Given the description of an element on the screen output the (x, y) to click on. 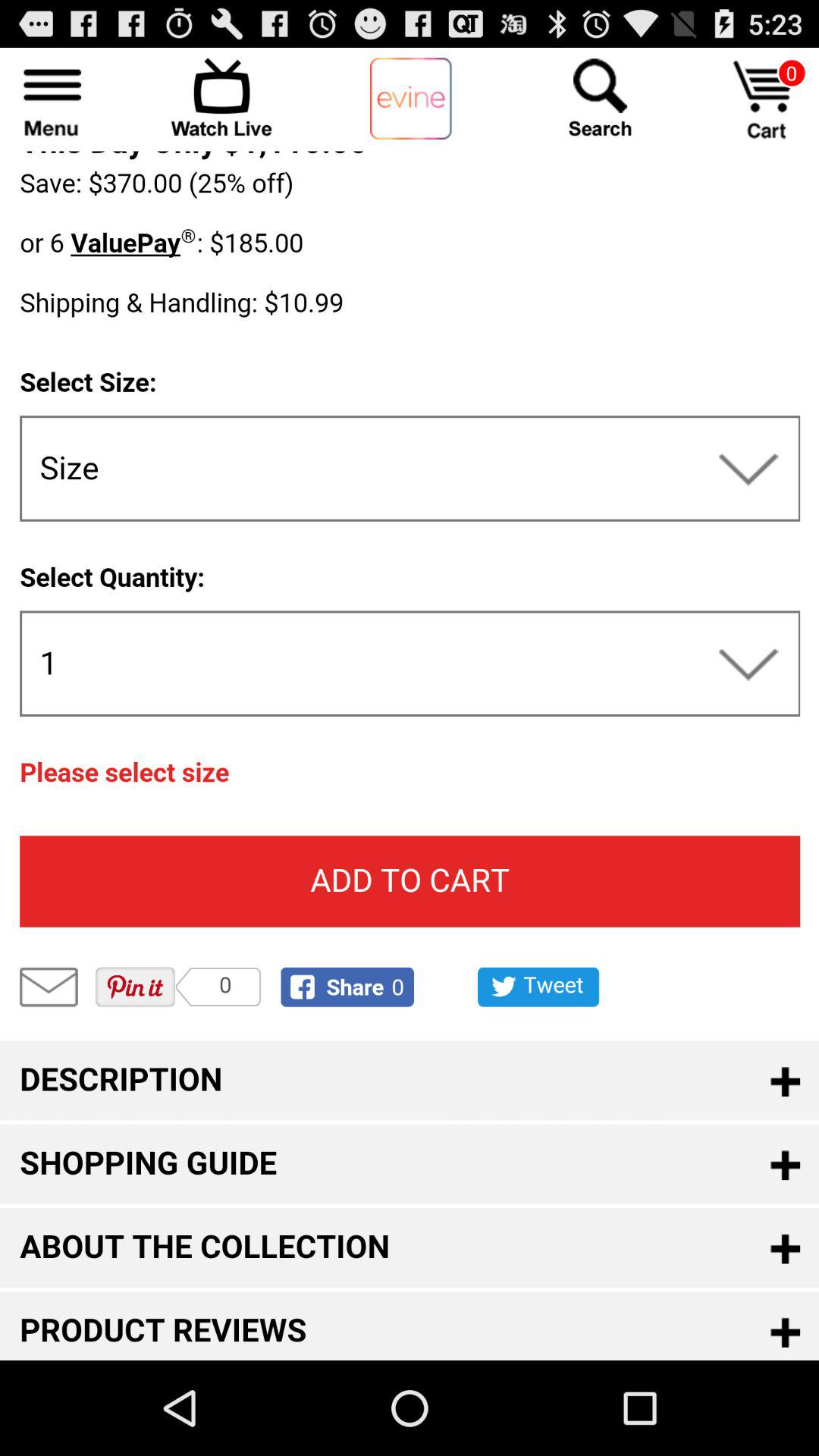
watch live tv (221, 97)
